Given the description of an element on the screen output the (x, y) to click on. 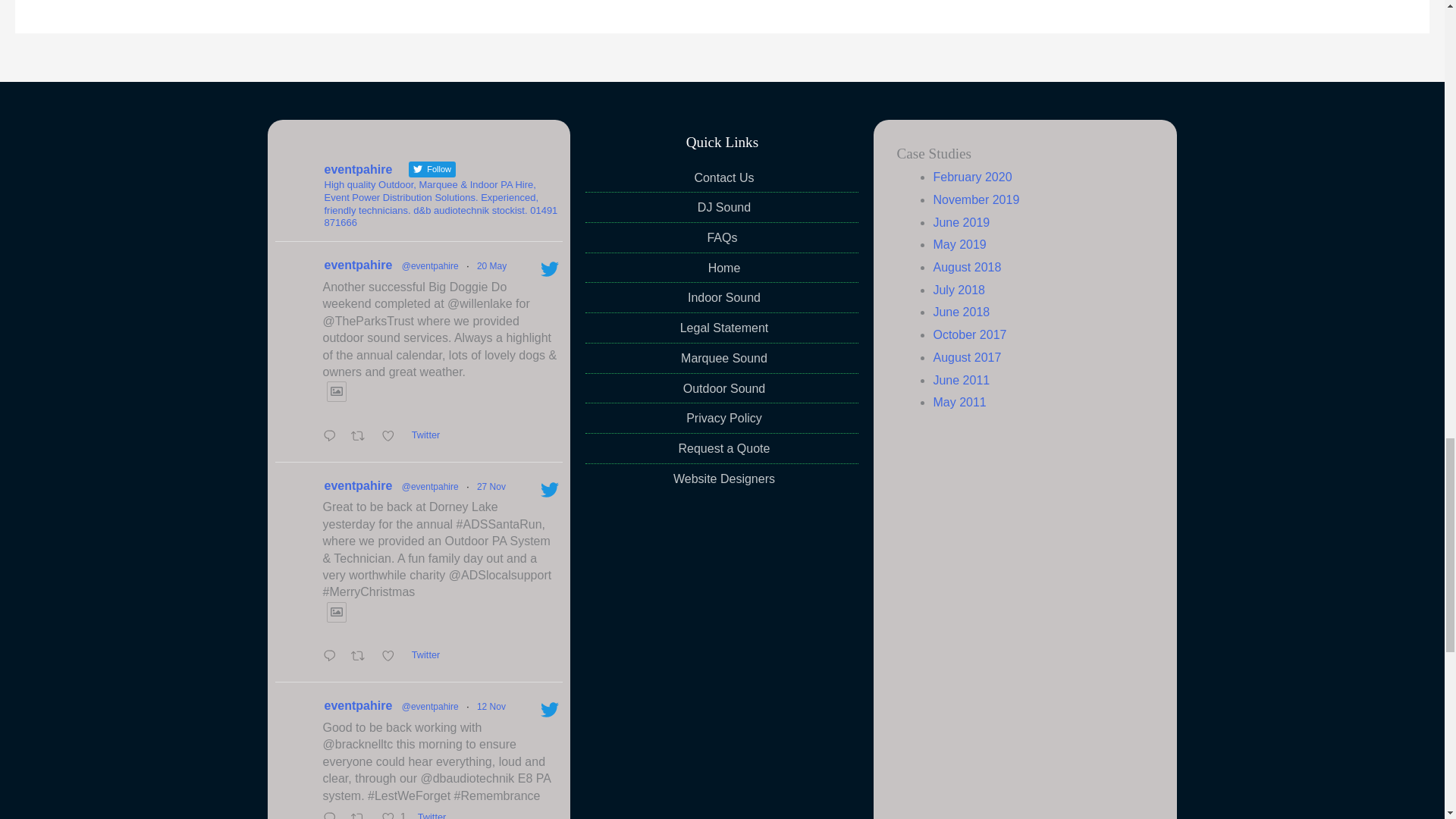
eventpahire (358, 265)
20 May (491, 266)
Reply on Twitter 1792576274445078923 (332, 437)
Reply on Twitter 1729116636719067332 (332, 657)
eventpahire (358, 485)
Retweet on Twitter 1792576274445078923 (362, 437)
Like on Twitter 1792576274445078923 (392, 437)
Twitter 1792576274445078923 (428, 434)
27 Nov (491, 486)
